Given the description of an element on the screen output the (x, y) to click on. 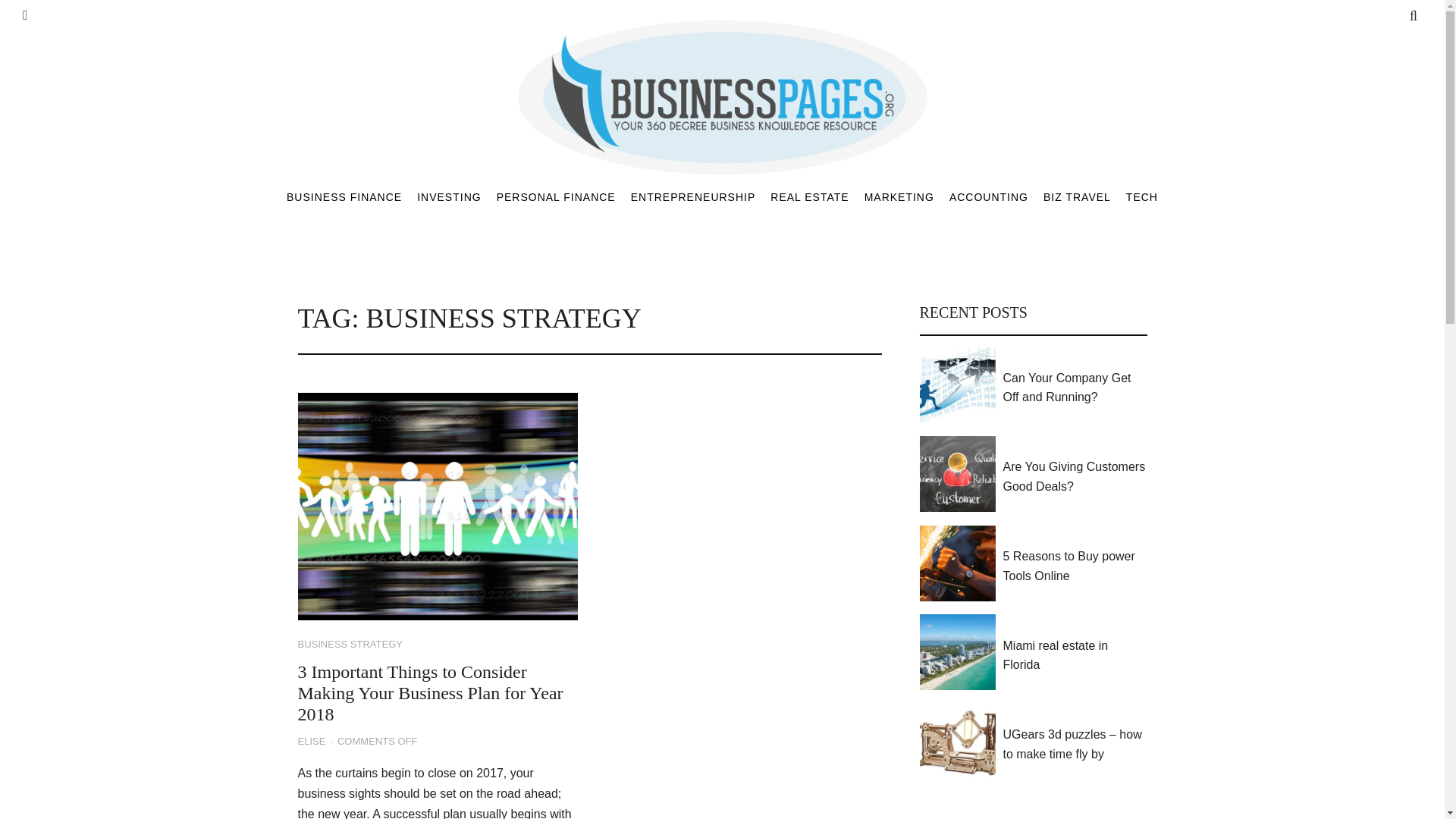
BIZ TRAVEL (1076, 196)
TECH (1141, 196)
PERSONAL FINANCE (555, 196)
5 Reasons to Buy power Tools Online (1075, 566)
Miami real estate in Florida (1075, 655)
ACCOUNTING (988, 196)
Are You Giving Customers Good Deals? (1075, 476)
INVESTING (448, 196)
Posts by Elise (310, 741)
ENTREPRENEURSHIP (692, 196)
